Given the description of an element on the screen output the (x, y) to click on. 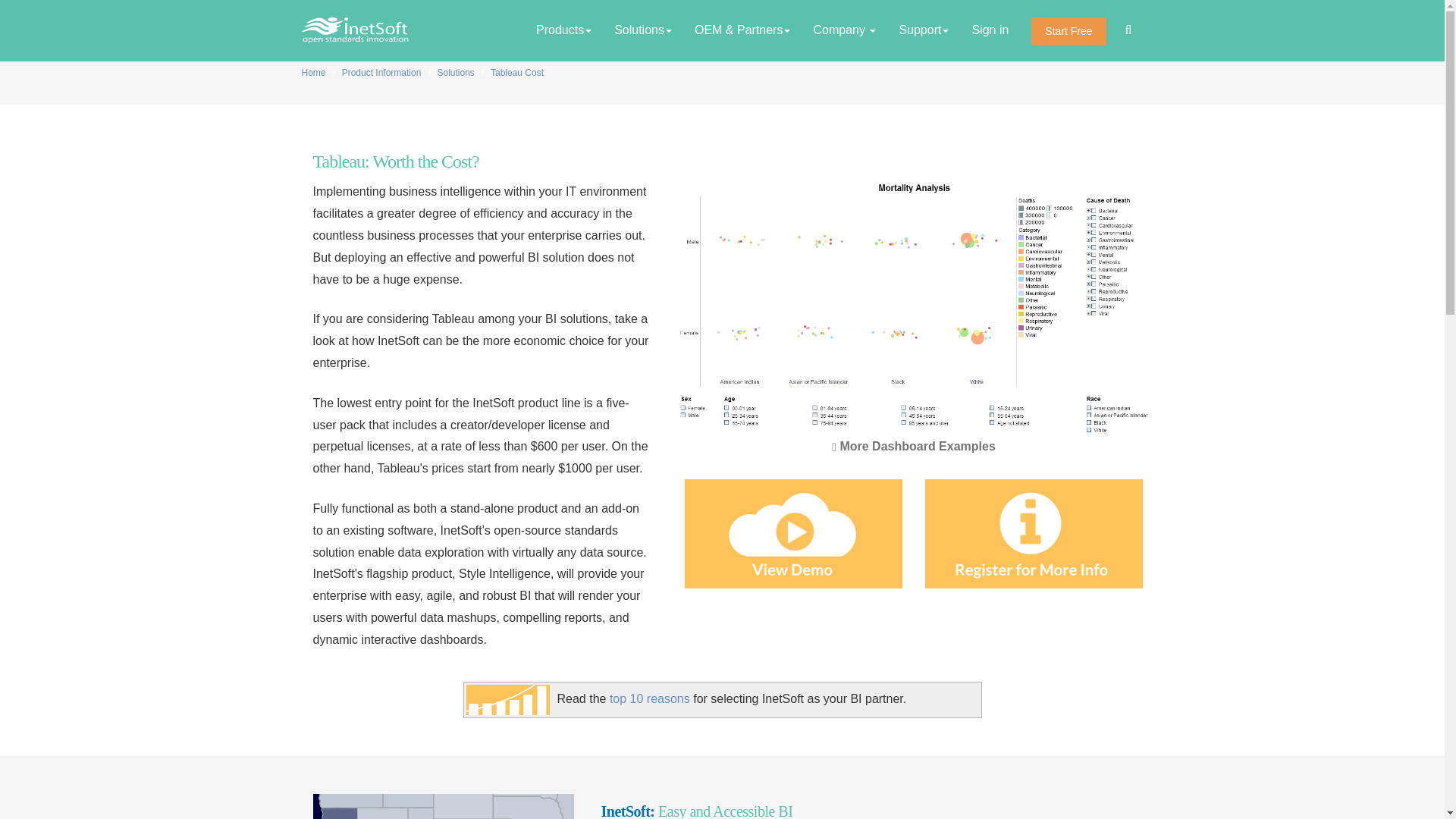
Products (563, 30)
View a 2-minute demo (792, 533)
Start Free (1067, 31)
Explore more dashboards (913, 445)
Read why to choose InetSoft (506, 699)
Solutions (642, 30)
Register for pricing and a personalized demo (1033, 533)
Read why to choose InetSoft (650, 698)
